Given the description of an element on the screen output the (x, y) to click on. 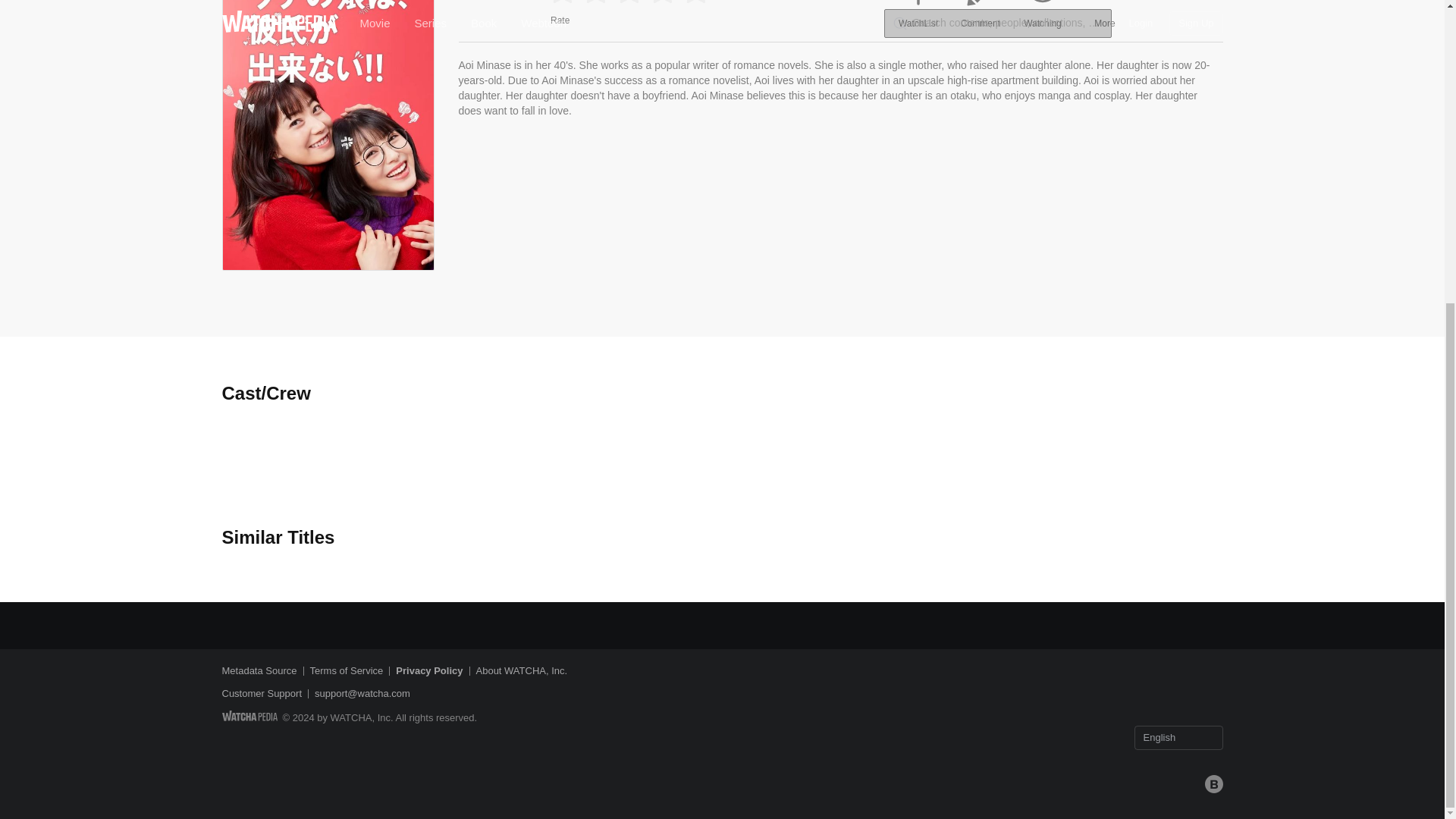
Watching (1042, 17)
WatchList (918, 17)
English (1178, 737)
Comment (980, 17)
About WATCHA, Inc. (521, 670)
More (1104, 17)
